Given the description of an element on the screen output the (x, y) to click on. 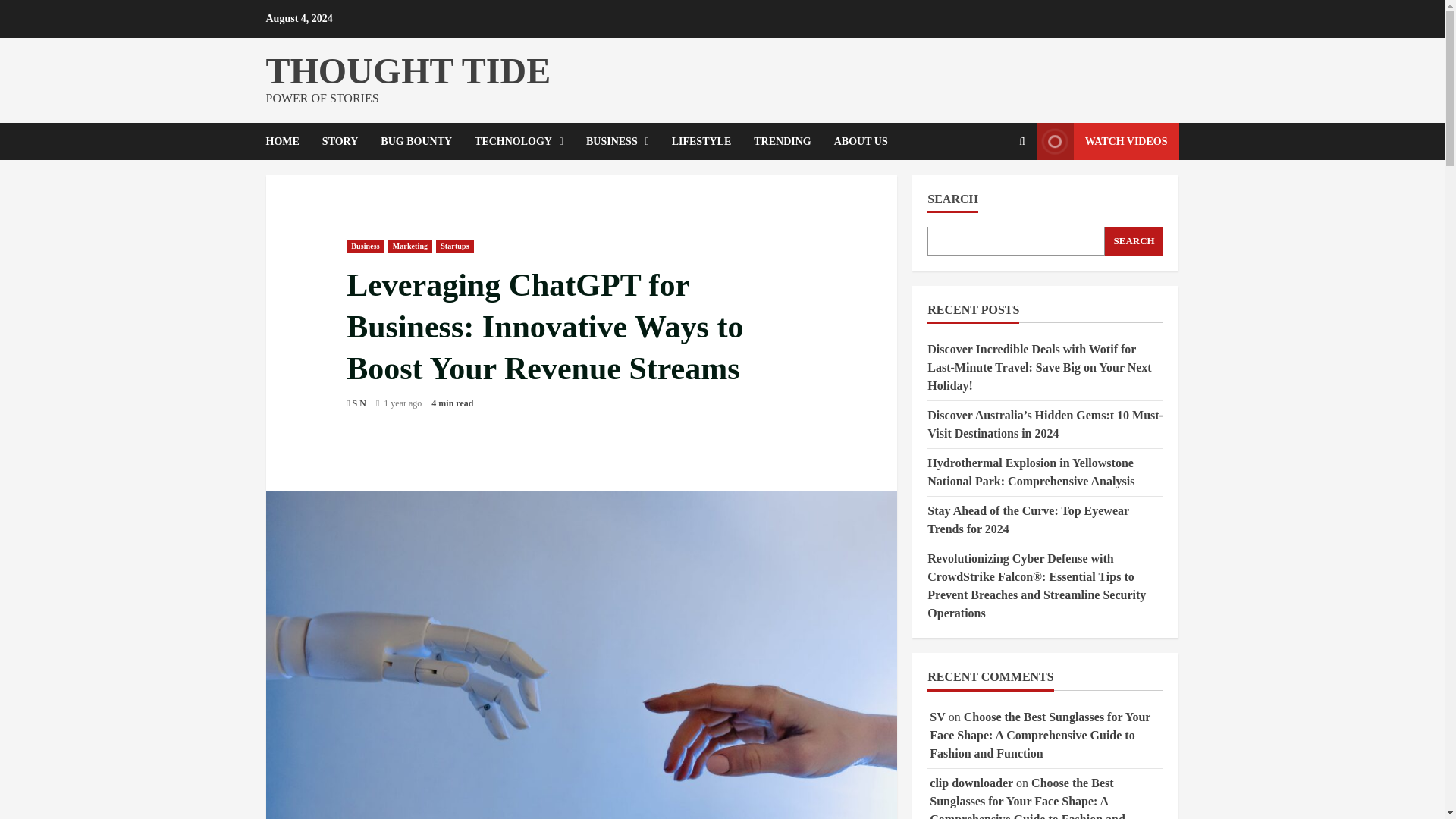
BUSINESS (618, 140)
STORY (340, 140)
BUG BOUNTY (416, 140)
Marketing (410, 246)
THOUGHT TIDE (407, 70)
TECHNOLOGY (519, 140)
HOME (287, 140)
ABOUT US (855, 140)
LIFESTYLE (701, 140)
TRENDING (782, 140)
SEARCH (1134, 240)
Business (365, 246)
WATCH VIDEOS (1107, 140)
Startups (454, 246)
S N (359, 403)
